Given the description of an element on the screen output the (x, y) to click on. 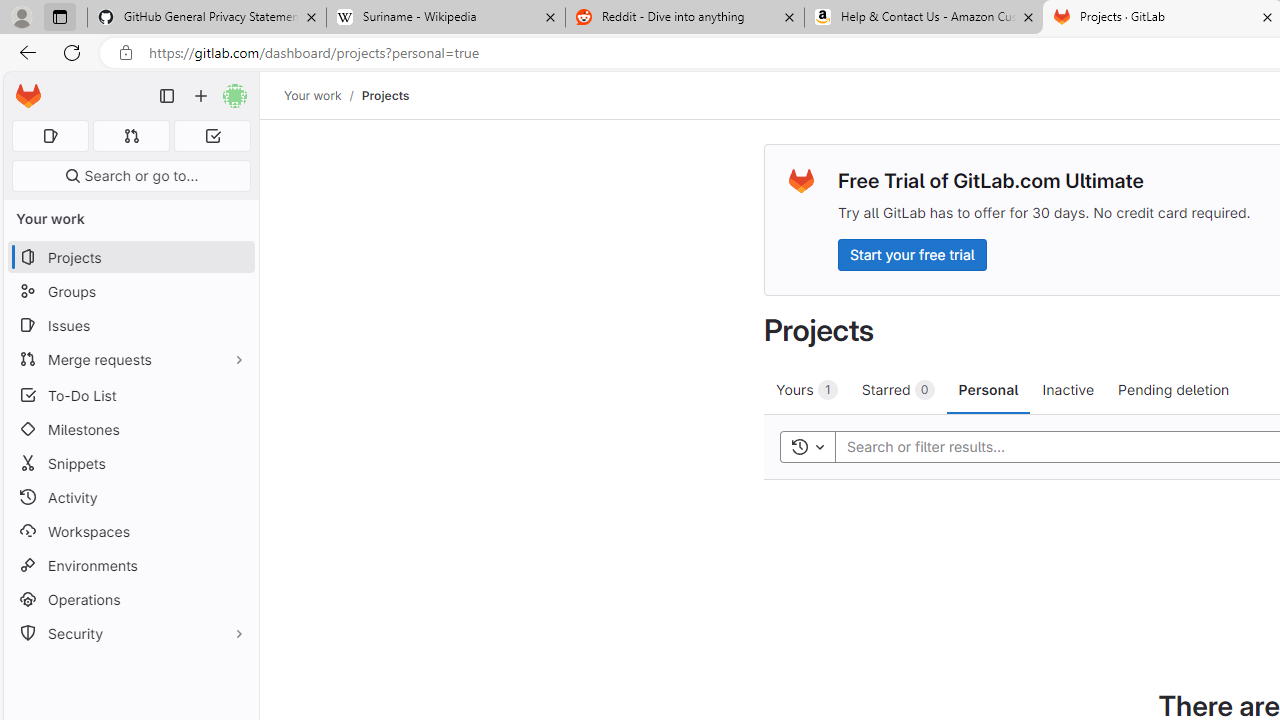
Merge requests 0 (131, 136)
Groups (130, 291)
Issues (130, 325)
Operations (130, 599)
Your work/ (323, 95)
Primary navigation sidebar (167, 96)
Homepage (27, 96)
Milestones (130, 429)
Create new... (201, 96)
Snippets (130, 463)
